Given the description of an element on the screen output the (x, y) to click on. 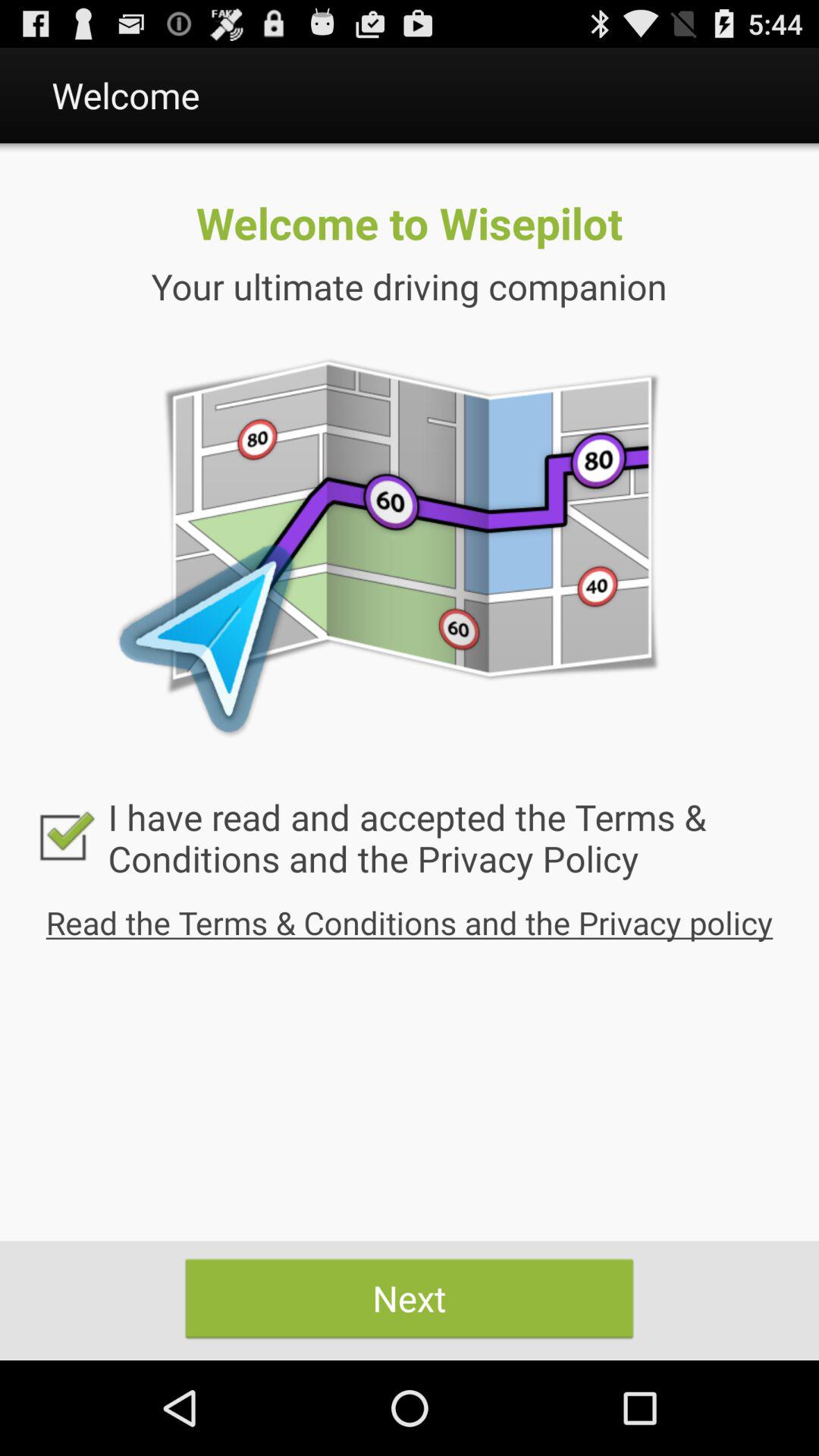
open the i have read checkbox (409, 837)
